Given the description of an element on the screen output the (x, y) to click on. 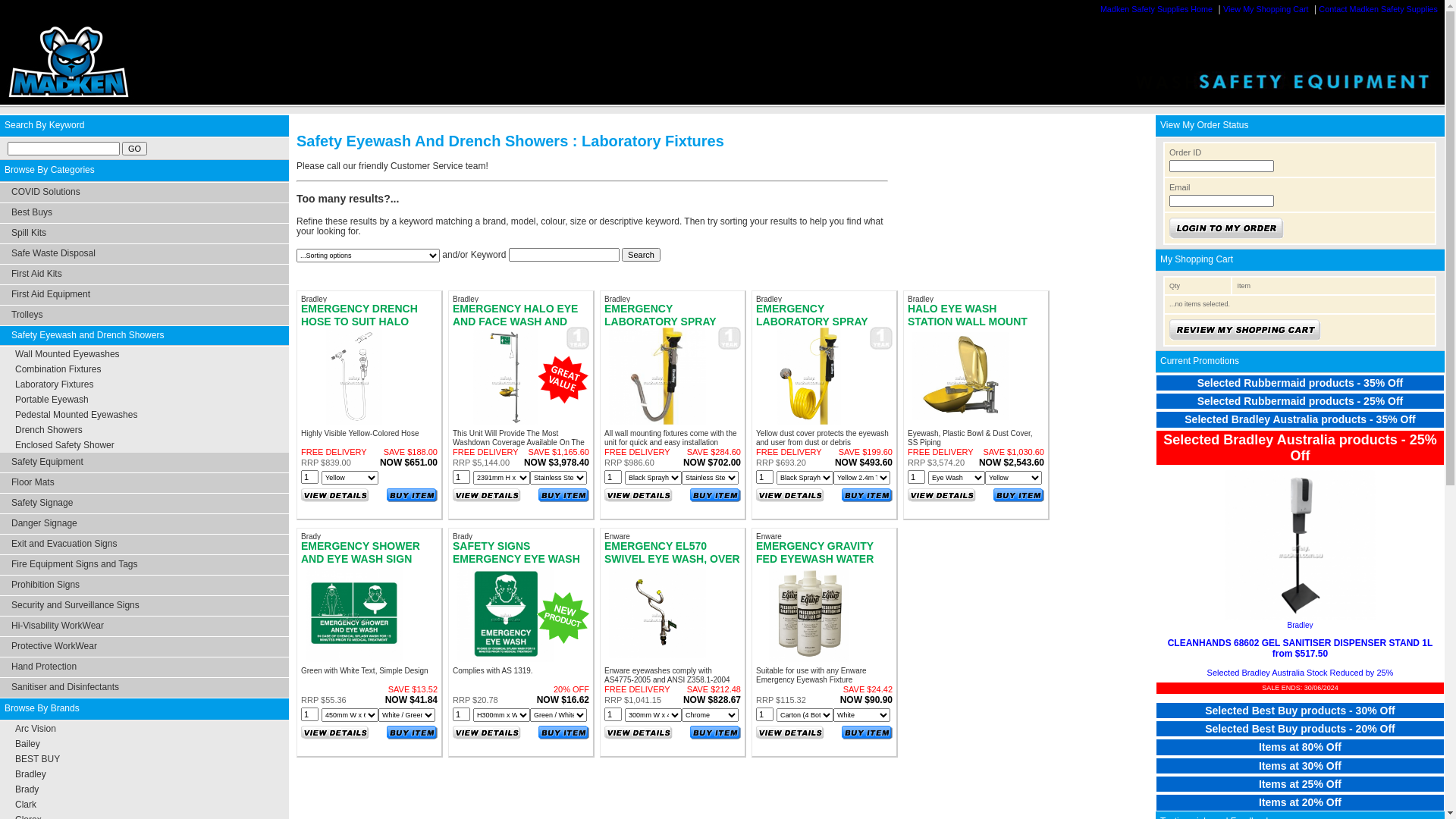
First Aid Kits Element type: text (144, 274)
Selected Bradley Australia products - 25% Off Element type: text (1299, 675)
SAFETY SIGNS EMERGENCY EYE WASH SAFETY SIGN Element type: text (516, 558)
Prohibition Signs Element type: text (144, 585)
View My Shopping Cart Element type: text (1267, 8)
First Aid Equipment Element type: text (144, 294)
Safe Waste Disposal Element type: text (144, 253)
Hand Protection Element type: text (144, 667)
Selected Rubbermaid products - 35% Off Element type: text (1299, 382)
Trolleys Element type: text (144, 315)
Fire Equipment Signs and Tags Element type: text (144, 564)
Sanitiser and Disinfectants Element type: text (144, 687)
Selected Best Buy products - 30% Off Element type: text (1299, 694)
EMERGENCY EL570 SWIVEL EYE WASH, OVER SINK MOUNT Element type: text (672, 558)
Items at 80% Off Element type: text (1299, 730)
Safety Equipment Element type: text (144, 462)
Portable Eyewash Element type: text (51, 399)
Combination Fixtures Element type: text (57, 369)
Pedestal Mounted Eyewashes Element type: text (76, 414)
Danger Signage Element type: text (144, 523)
BEST BUY Element type: text (37, 758)
Browse By Categories Element type: text (144, 171)
Selected Rubbermaid products - 25% Off Element type: text (1299, 402)
Items at 20% Off Element type: text (1299, 786)
Selected Best Buy products - 20% Off Element type: text (1299, 712)
EMERGENCY HALO EYE AND FACE WASH AND DRENCH SHOWER FIXTURE Element type: text (514, 326)
Items at 30% Off Element type: text (1299, 749)
Arc Vision Element type: text (35, 728)
Laboratory Fixtures Element type: text (54, 384)
Spill Kits Element type: text (144, 233)
Protective WorkWear Element type: text (144, 646)
EMERGENCY DRENCH HOSE TO SUIT HALO FIXTURES Element type: text (359, 320)
Security and Surveillance Signs Element type: text (144, 605)
Hi-Visability WorkWear Element type: text (144, 626)
EMERGENCY SHOWER AND EYE WASH SIGN Element type: text (360, 551)
Safety Signage Element type: text (144, 503)
Search Element type: text (640, 254)
Enclosed Safety Shower Element type: text (64, 444)
Safety Eyewash and Drench Showers Element type: text (144, 335)
Floor Mats Element type: text (144, 482)
Selected Bradley Australia products - 35% Off Element type: text (1299, 657)
Wall Mounted Eyewashes Element type: text (67, 353)
Best Buys Element type: text (144, 212)
Madken Safety Supplies Home Element type: text (1157, 8)
Items at 25% Off Element type: text (1299, 767)
Bradley Element type: text (30, 773)
EMERGENCY GRAVITY FED EYEWASH WATER PRESERVATIVE CONCENTRATE Element type: text (814, 564)
HALO EYE WASH STATION WALL MOUNT Element type: text (967, 314)
COVID Solutions Element type: text (144, 192)
Exit and Evacuation Signs Element type: text (144, 544)
Bailey Element type: text (27, 743)
Contact Madken Safety Supplies Element type: text (1379, 8)
Drench Showers Element type: text (48, 429)
EMERGENCY LABORATORY SPRAY EYEWASH HAND-HELD WALL MOUNTED Element type: text (815, 326)
Brady Element type: text (26, 789)
Clark Element type: text (25, 804)
GO Element type: text (134, 148)
